Given the description of an element on the screen output the (x, y) to click on. 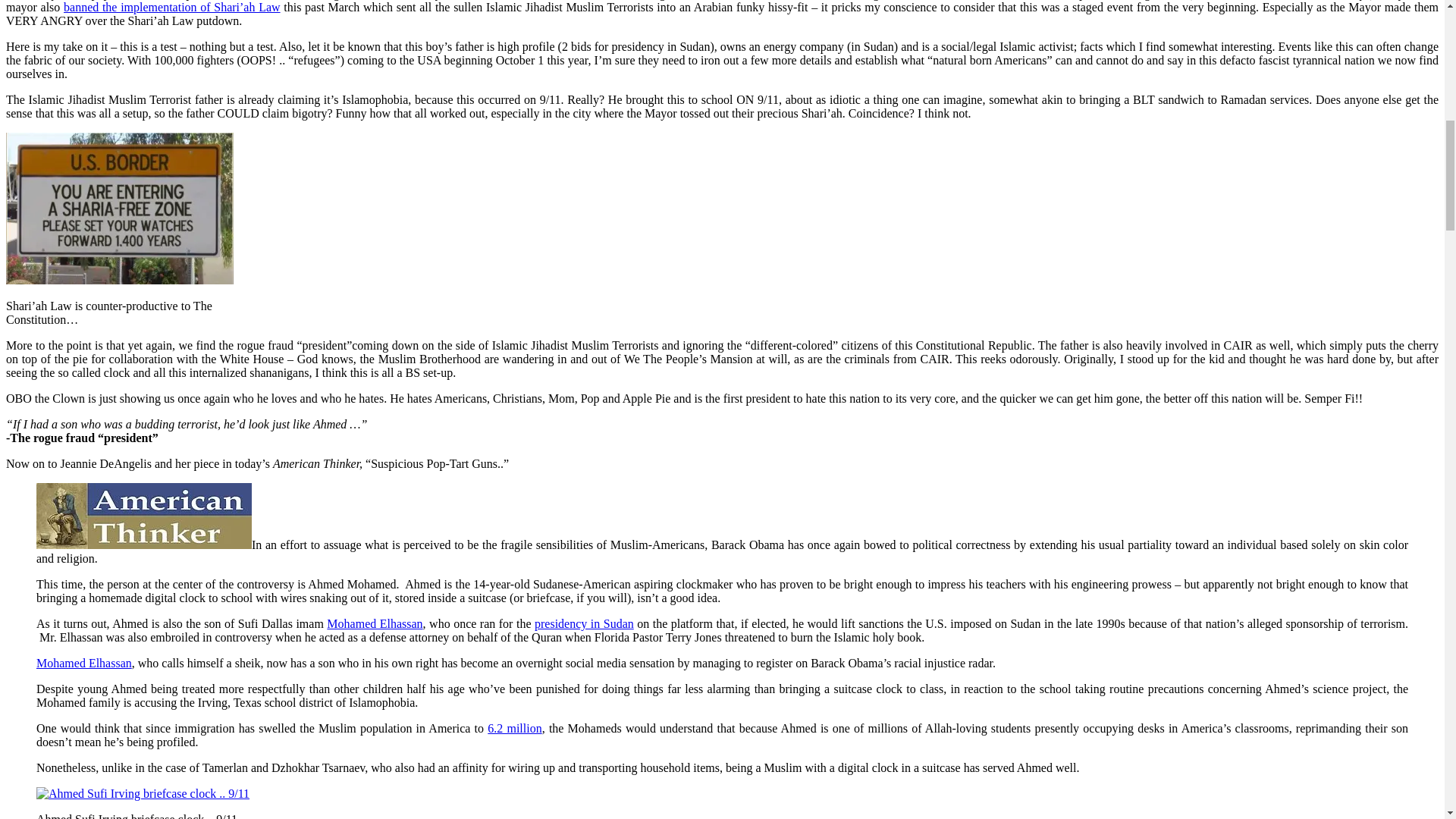
6.2 million (514, 727)
Mohamed Elhassan (374, 623)
presidency in Sudan (583, 623)
Mohamed Elhassan (84, 662)
